Given the description of an element on the screen output the (x, y) to click on. 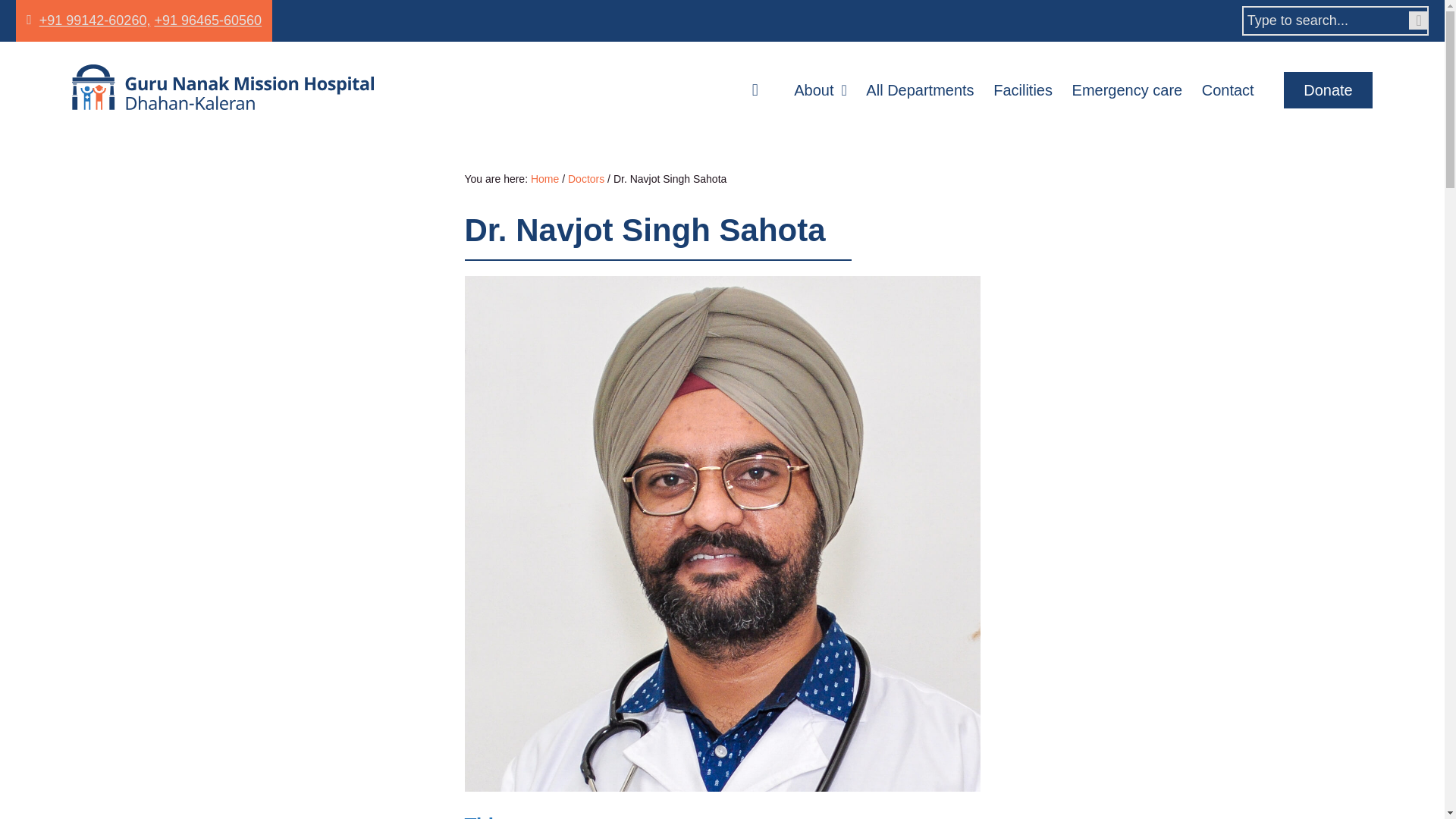
GNMH (266, 86)
Donate (1328, 90)
Emergency care (1127, 89)
Home (545, 178)
All Departments (920, 89)
Facilities (1022, 89)
Doctors (585, 178)
Home (762, 89)
Contact (1227, 89)
